Given the description of an element on the screen output the (x, y) to click on. 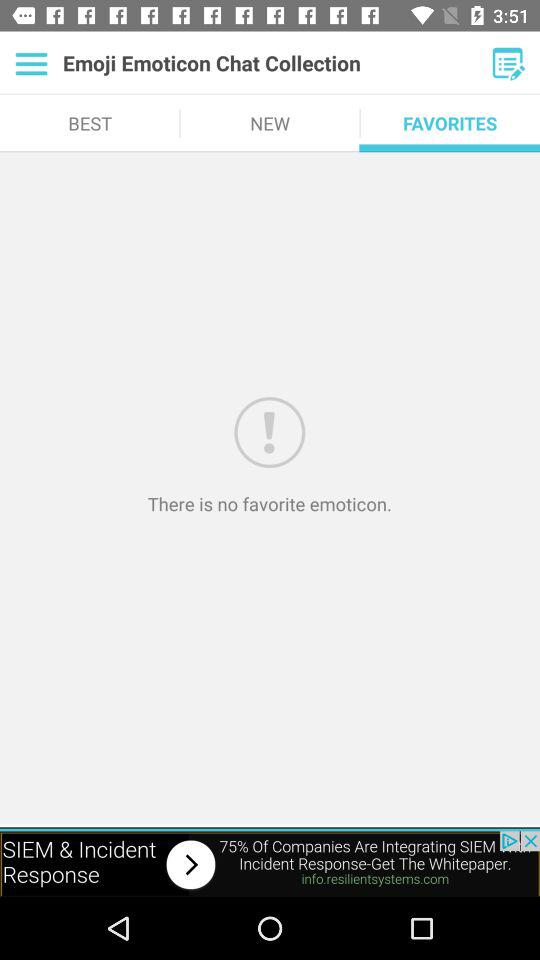
create new (508, 63)
